Given the description of an element on the screen output the (x, y) to click on. 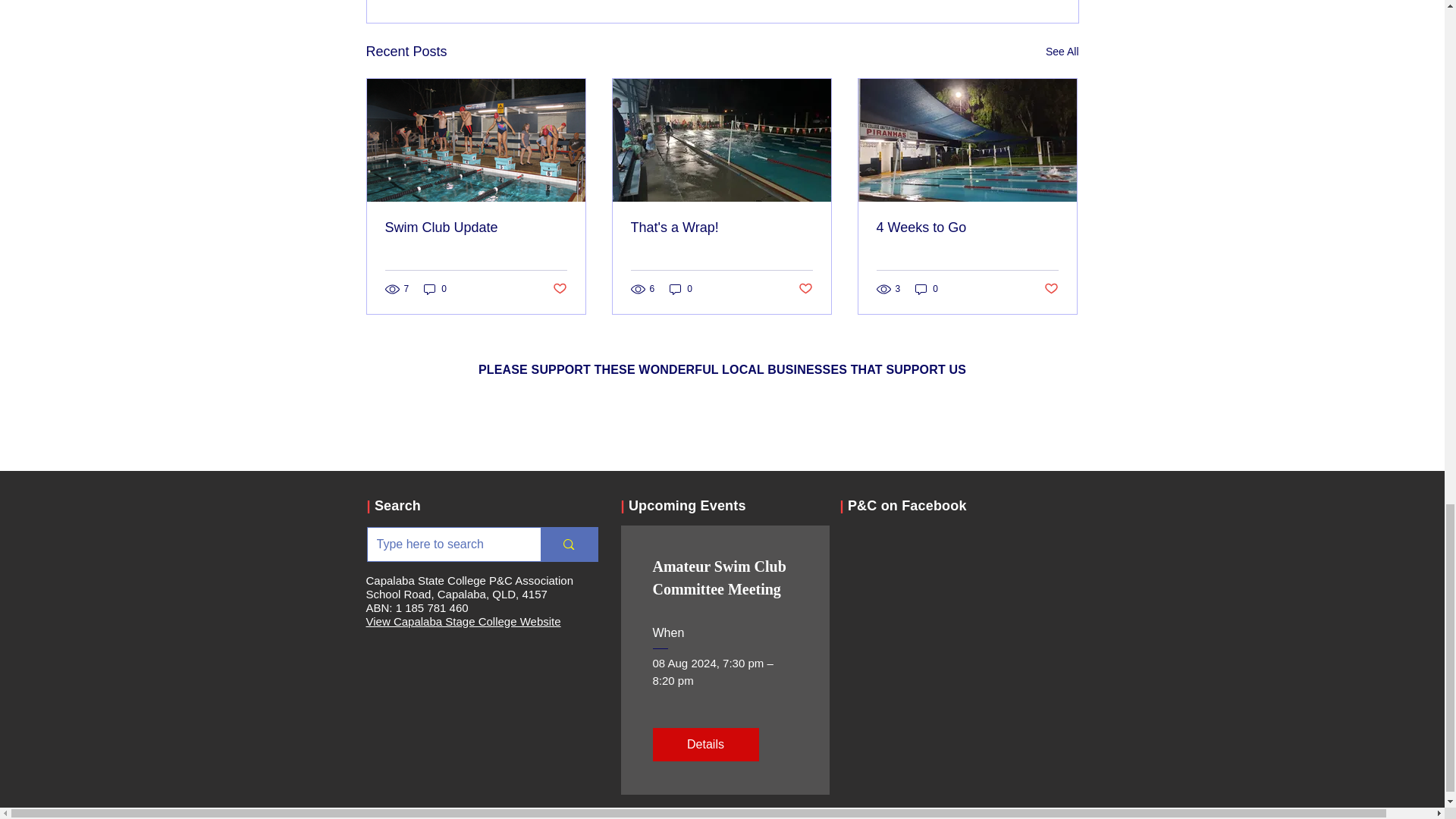
0 (681, 288)
Post not marked as liked (558, 289)
0 (926, 288)
Post not marked as liked (1050, 289)
0 (435, 288)
Swim Club Update (476, 227)
That's a Wrap! (721, 227)
4 Weeks to Go (967, 227)
Post not marked as liked (804, 289)
See All (1061, 51)
